Given the description of an element on the screen output the (x, y) to click on. 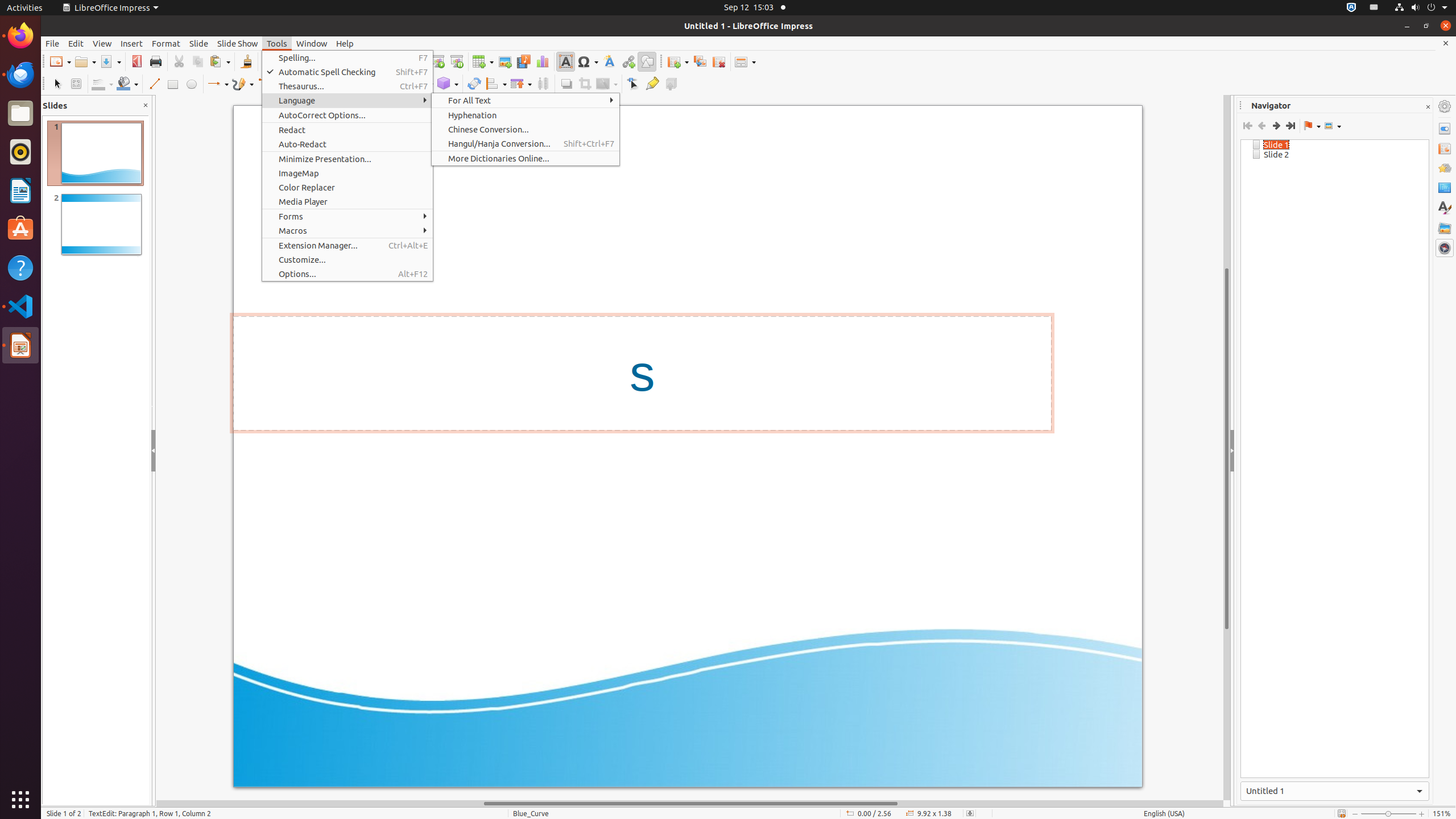
Close Pane Element type: push-button (145, 105)
Vertical scroll bar Element type: scroll-bar (1226, 447)
Fill Color Element type: push-button (126, 83)
Lines and Arrows Element type: push-button (217, 83)
Previous Slide Element type: push-button (1261, 125)
